Given the description of an element on the screen output the (x, y) to click on. 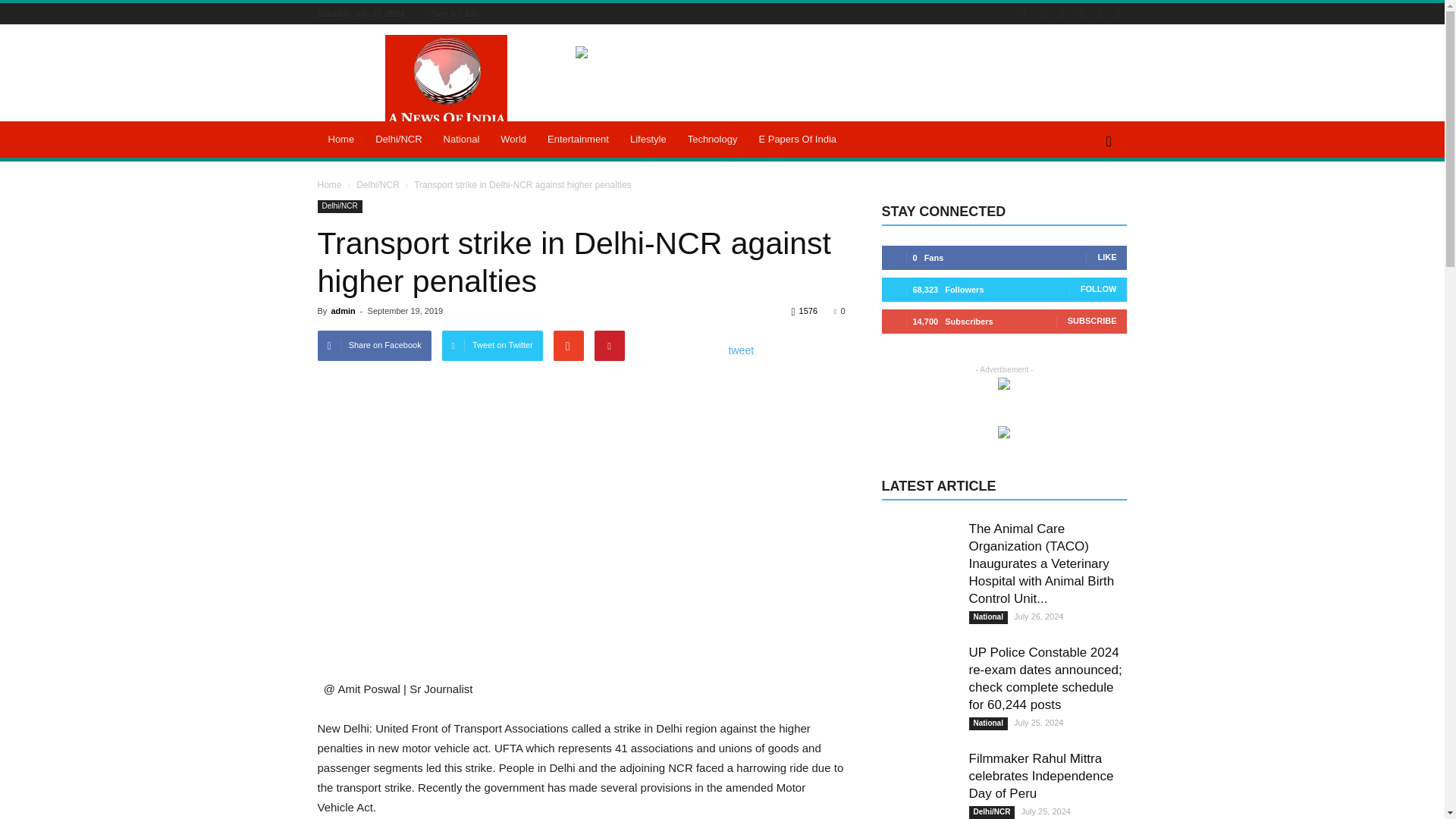
Entertainment (578, 139)
Home (341, 139)
National (461, 139)
World (513, 139)
